Given the description of an element on the screen output the (x, y) to click on. 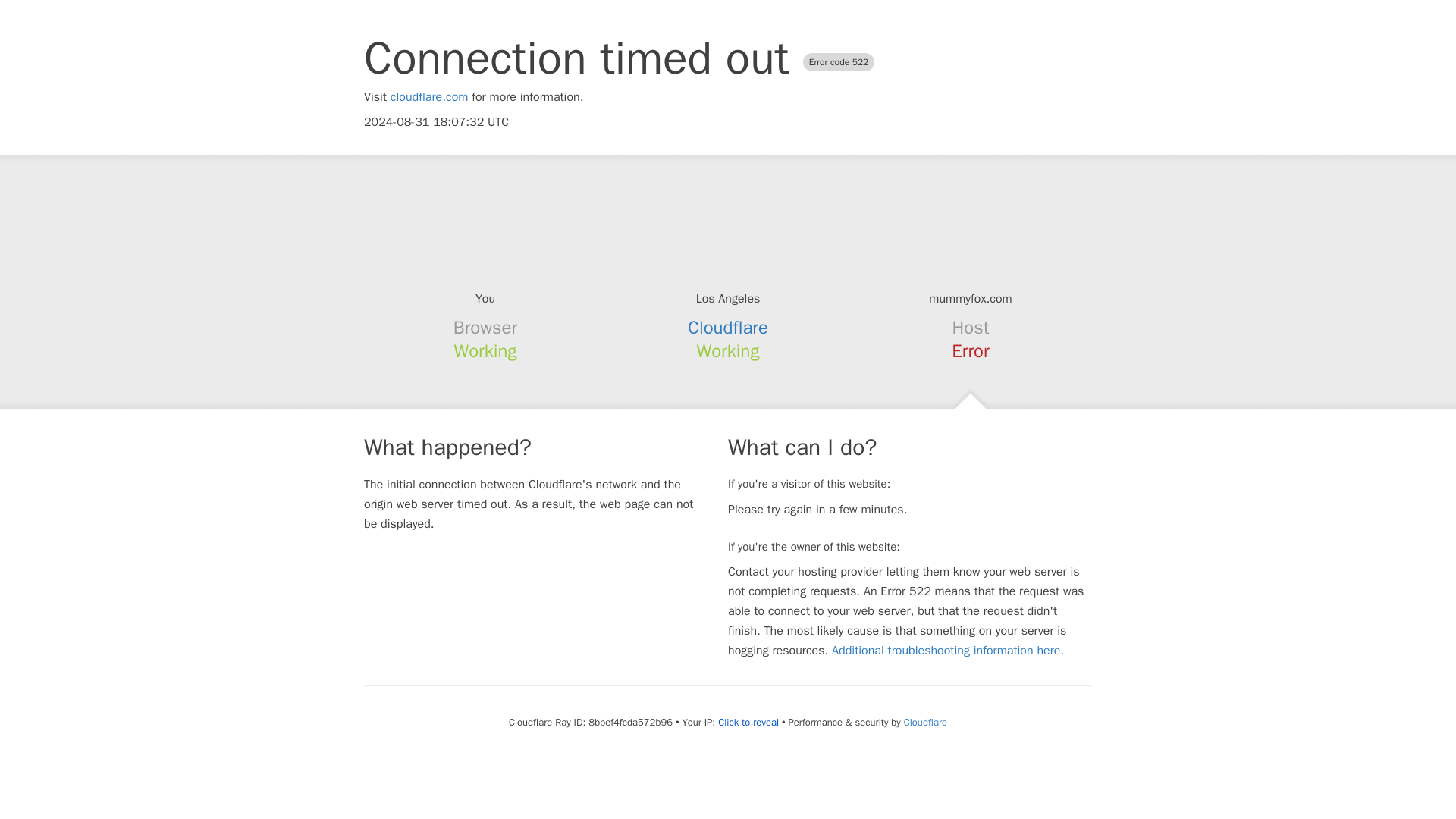
Additional troubleshooting information here. (947, 650)
Cloudflare (727, 327)
cloudflare.com (429, 96)
Click to reveal (747, 722)
Cloudflare (925, 721)
